Given the description of an element on the screen output the (x, y) to click on. 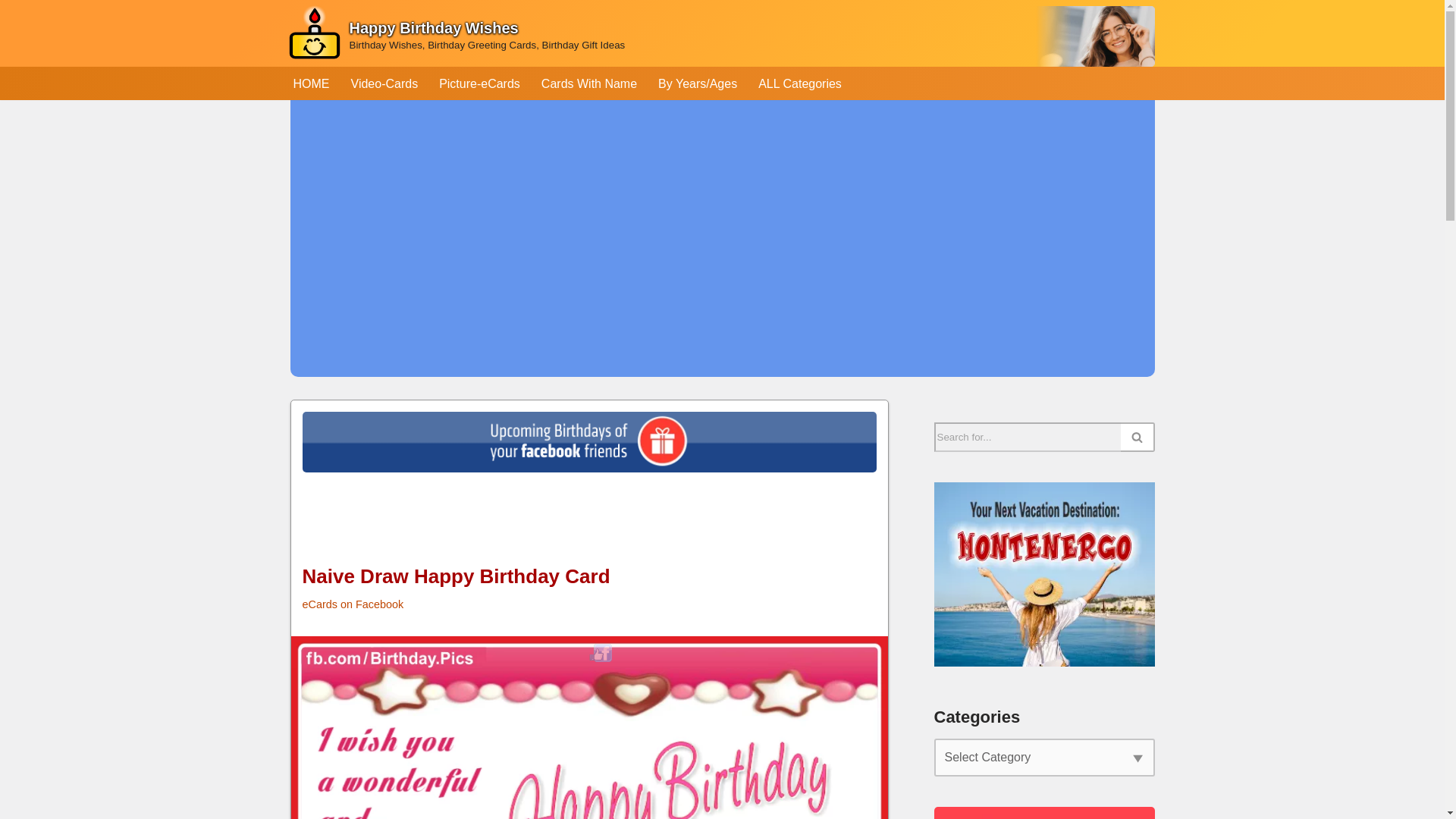
eCards on Facebook (352, 604)
Picture-eCards (479, 83)
HOME (310, 83)
Skip to content (11, 31)
Cards With Name (589, 83)
Advertisement (588, 525)
Naive Draw Happy Birthday Card to Celebrate (589, 727)
ALL Categories (799, 83)
Naive Draw Happy Birthday Card Pictures (600, 652)
